Given the description of an element on the screen output the (x, y) to click on. 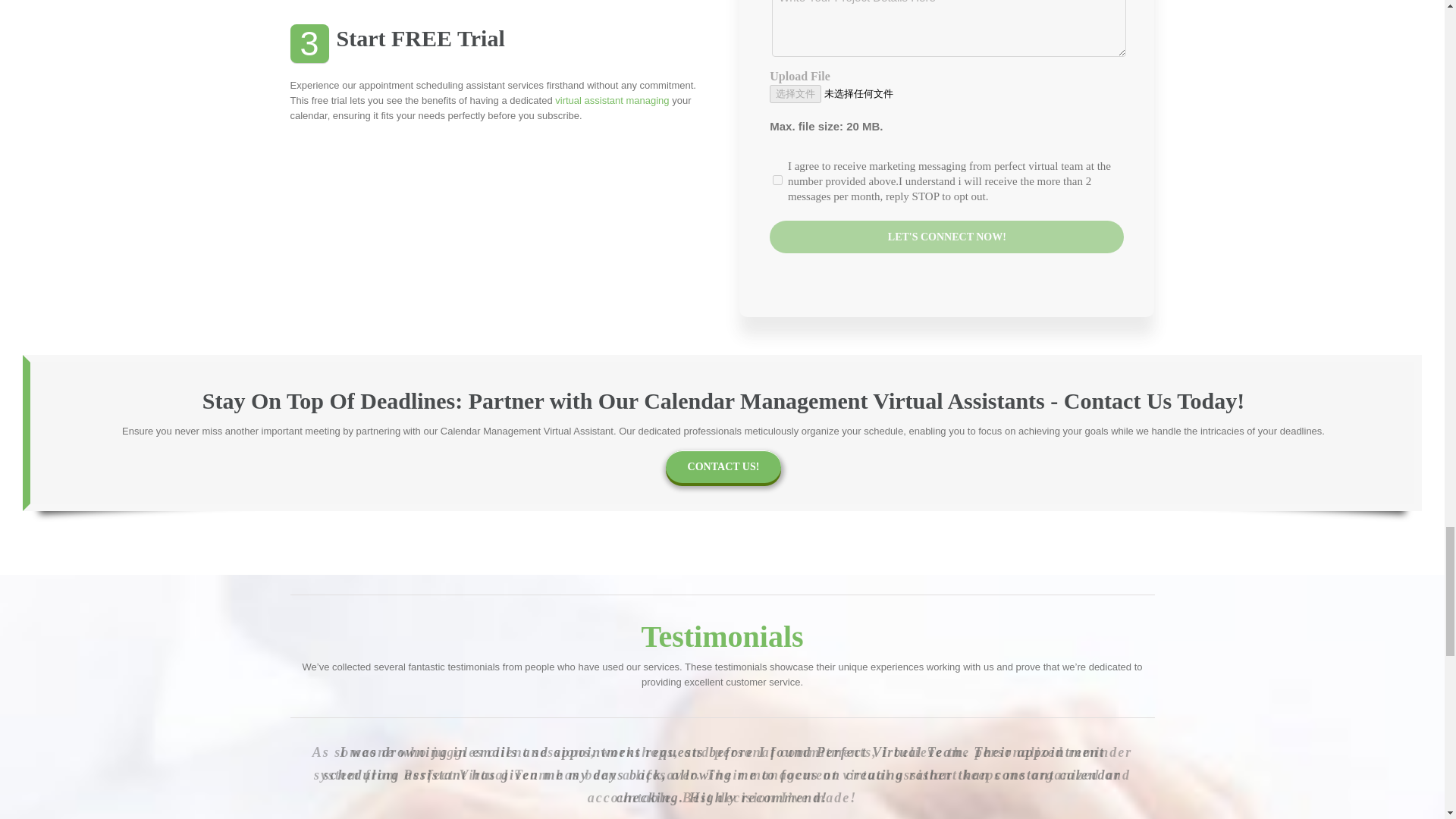
Let's Connect Now! (947, 236)
